Given the description of an element on the screen output the (x, y) to click on. 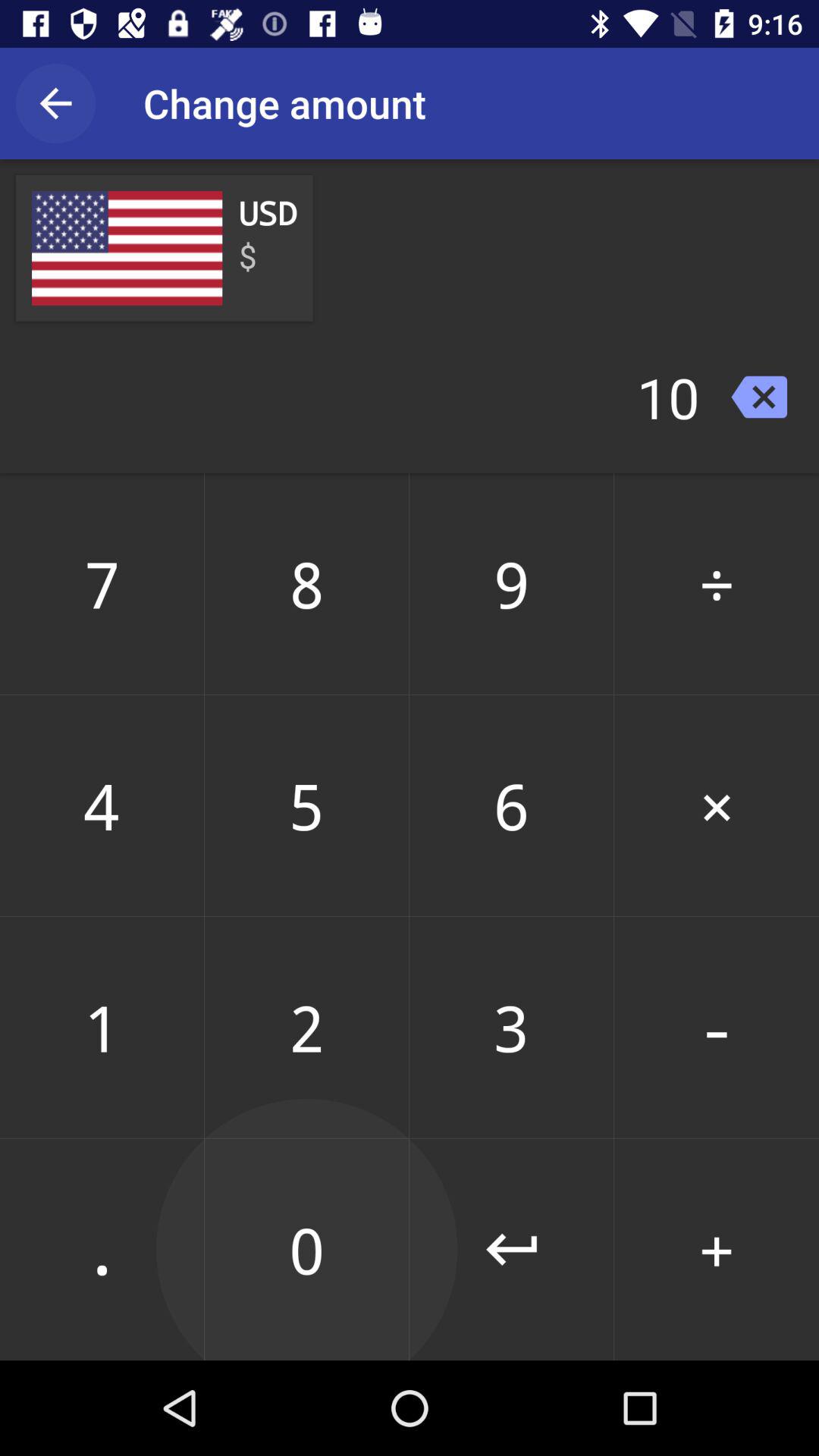
swipe until 7 item (102, 583)
